Given the description of an element on the screen output the (x, y) to click on. 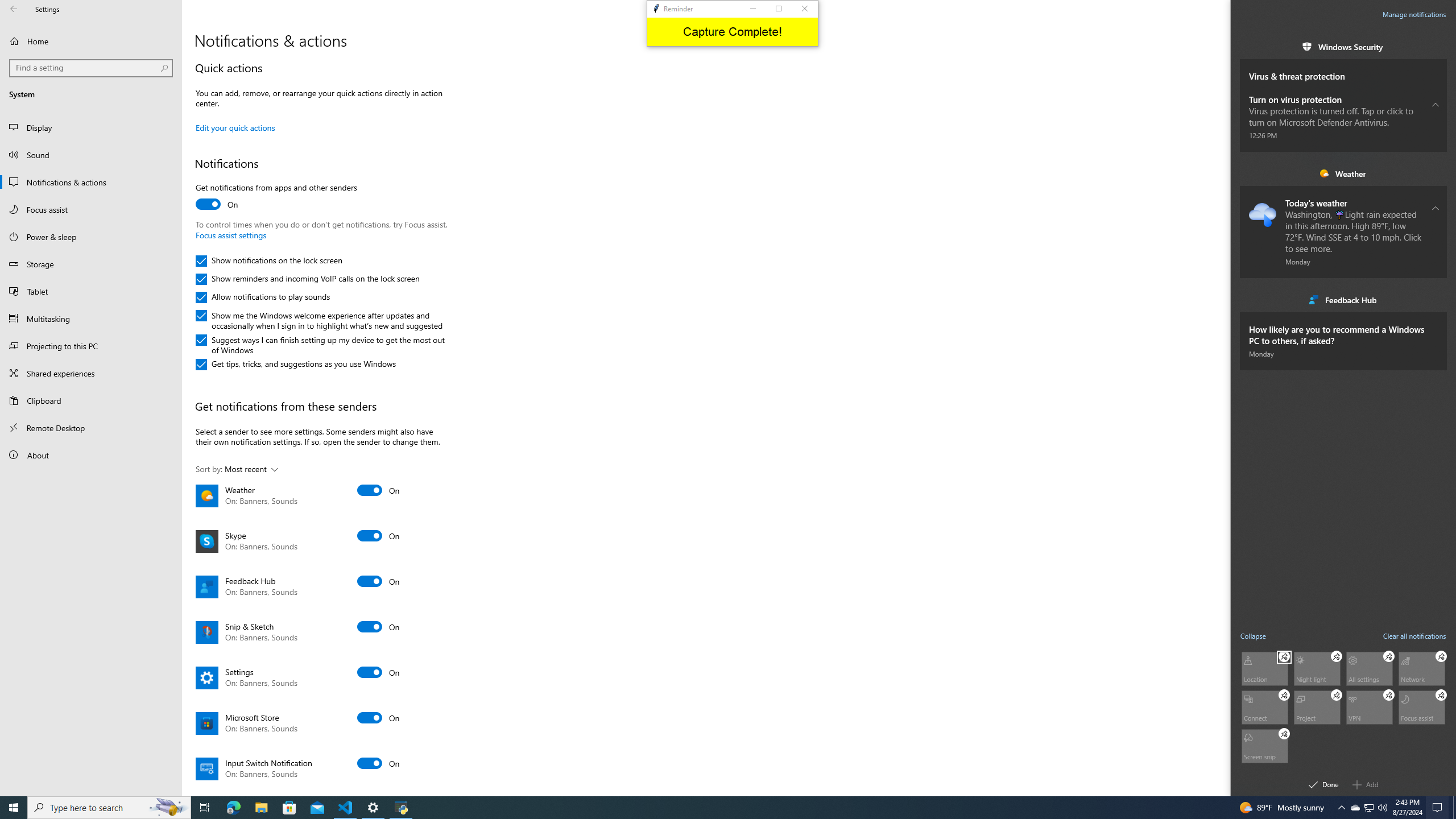
Start (13, 807)
Manage notifications (1414, 14)
All settings (1368, 667)
Focus assist Unpin (1441, 695)
Clear all notifications for Feedback Hub (1435, 299)
Project Unpin (1336, 695)
Virus & threat protection. . Received on . Subgroup. (1343, 70)
Type here to search (108, 807)
Connect (1264, 706)
VPN Unpin (1388, 695)
File Explorer (261, 807)
Clear this notification (1435, 322)
Clear all notifications for Virus & threat protection (1435, 69)
Location Unpin (1284, 655)
